Given the description of an element on the screen output the (x, y) to click on. 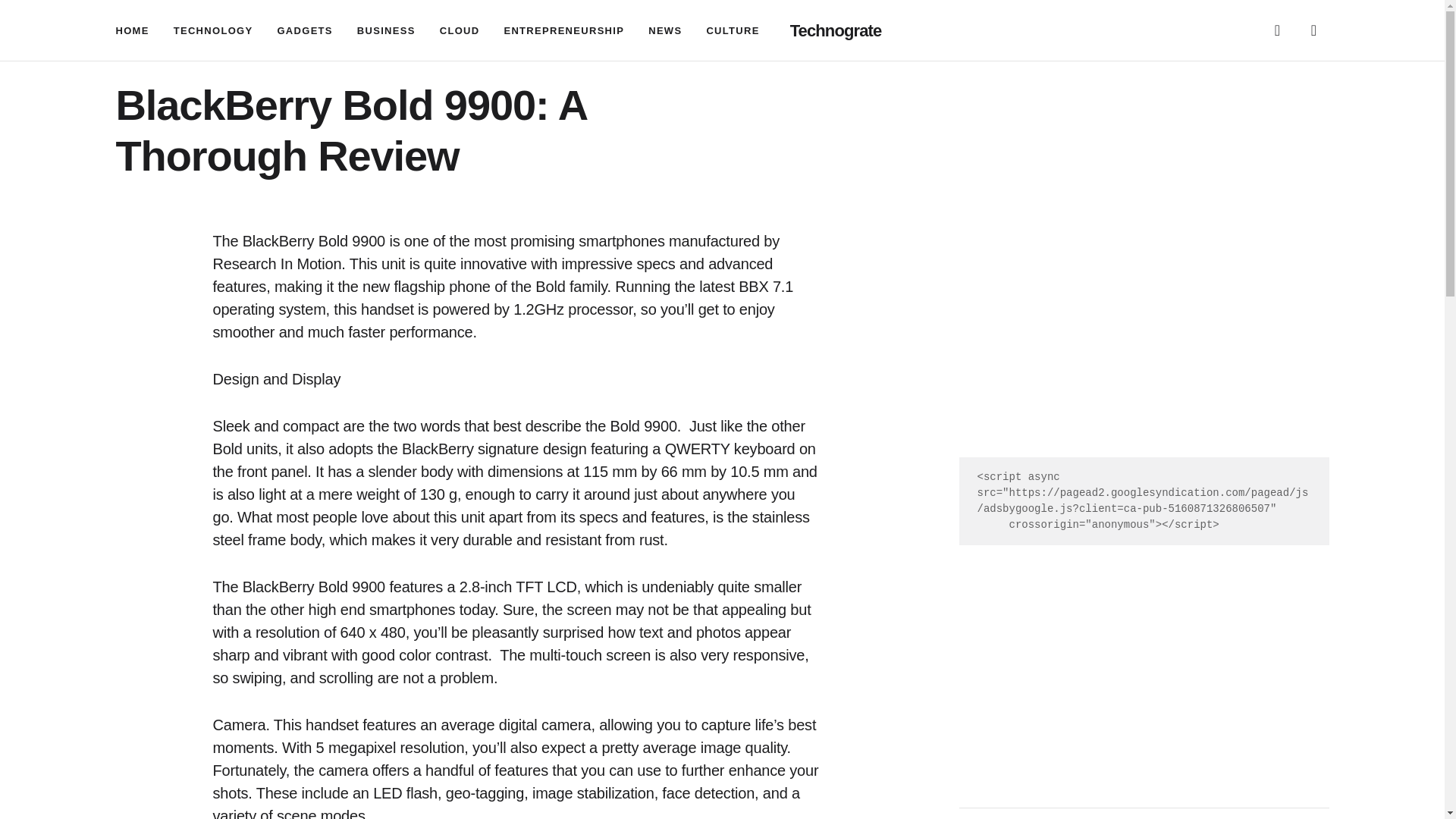
BUSINESS (385, 30)
Advertisement (1142, 343)
Advertisement (1142, 663)
GADGETS (303, 30)
TECHNOLOGY (213, 30)
Technograte (836, 30)
ENTREPRENEURSHIP (563, 30)
